Given the description of an element on the screen output the (x, y) to click on. 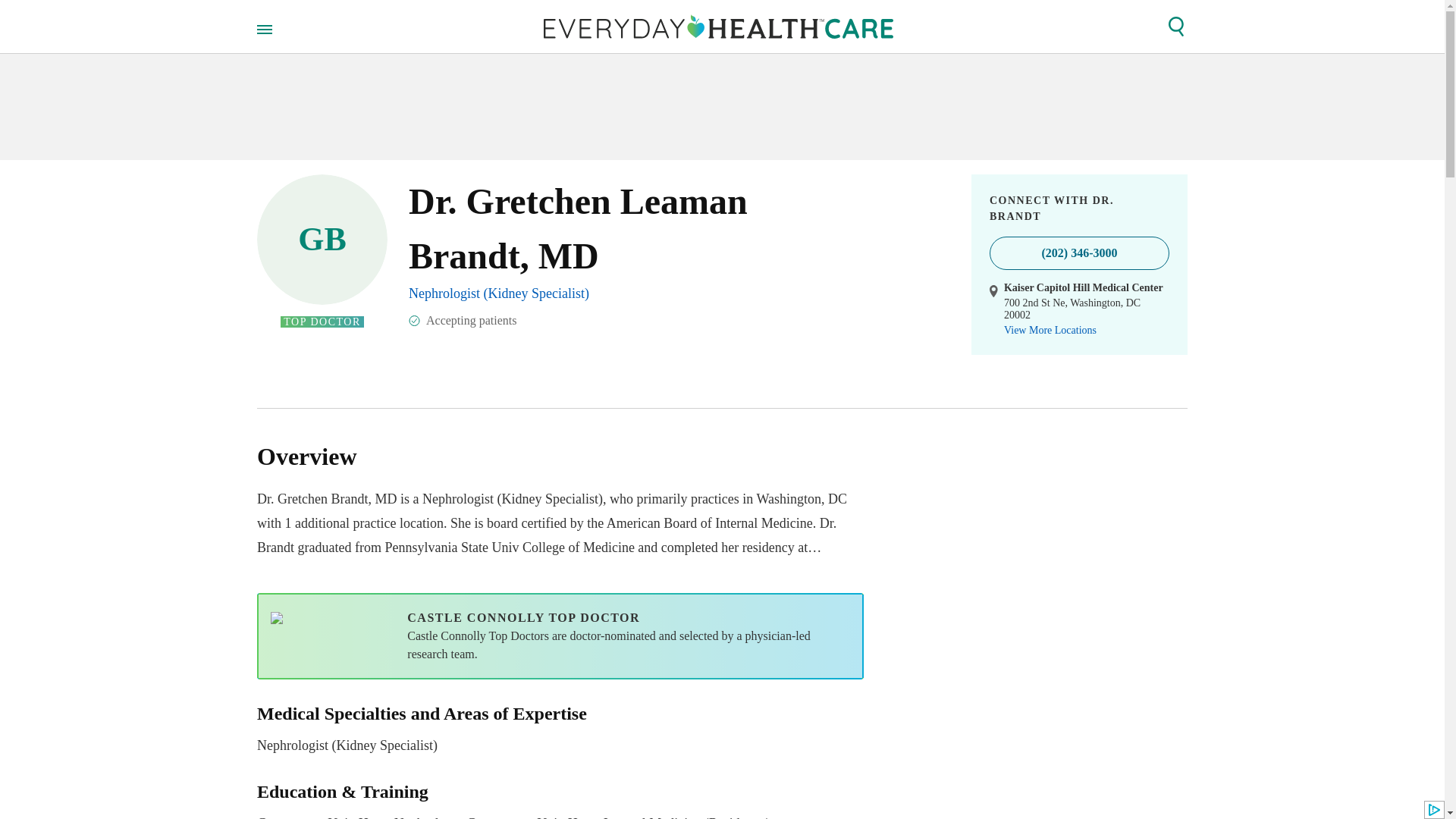
View More Locations (1050, 330)
